Given the description of an element on the screen output the (x, y) to click on. 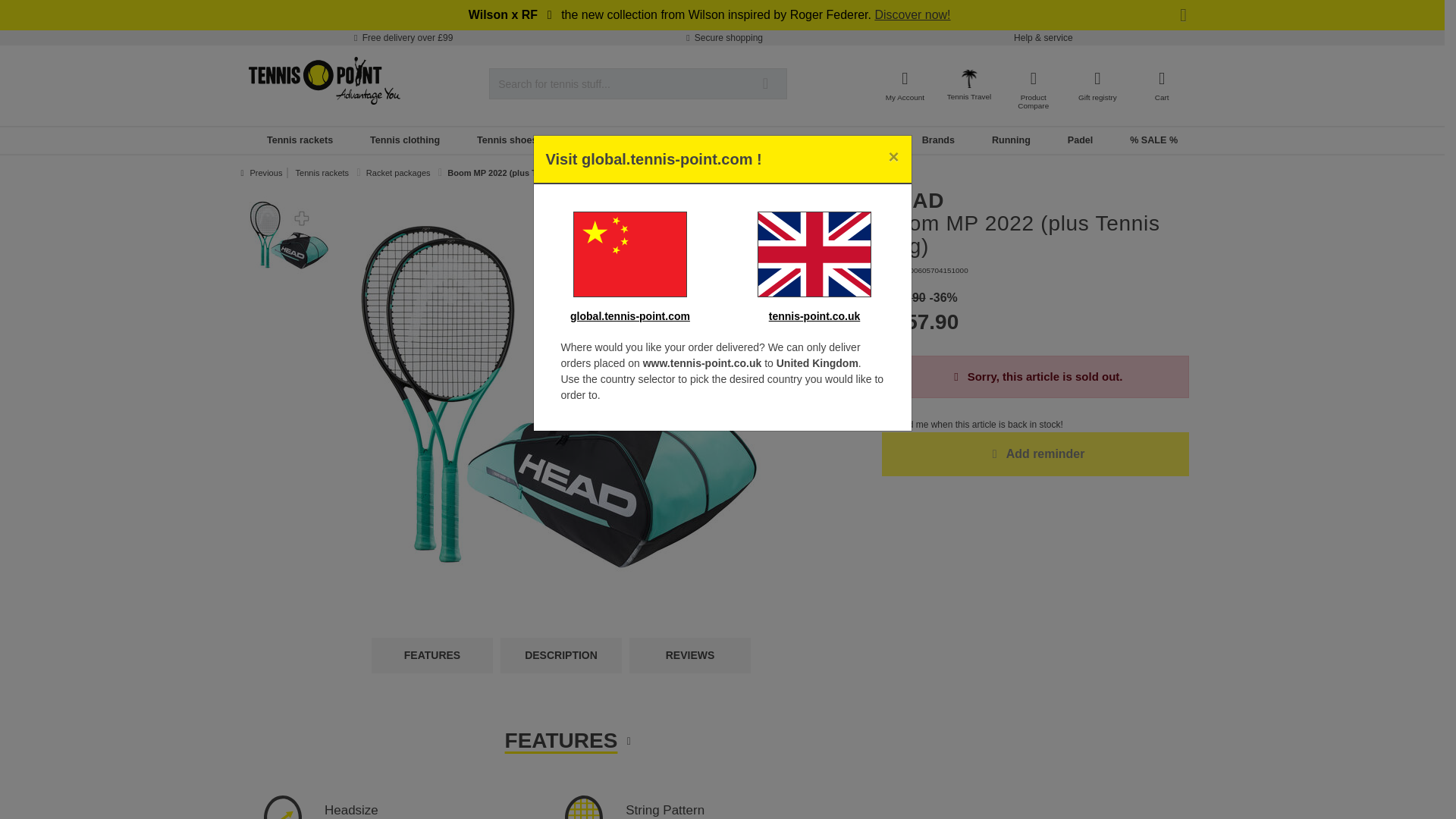
Tennis Travel (969, 88)
Tennis rackets (300, 140)
Tennis-Point Home (324, 79)
Gift registry (1097, 83)
Discover now! (912, 14)
Secure shopping (721, 37)
My Account (905, 83)
Product Compare (1033, 87)
